Given the description of an element on the screen output the (x, y) to click on. 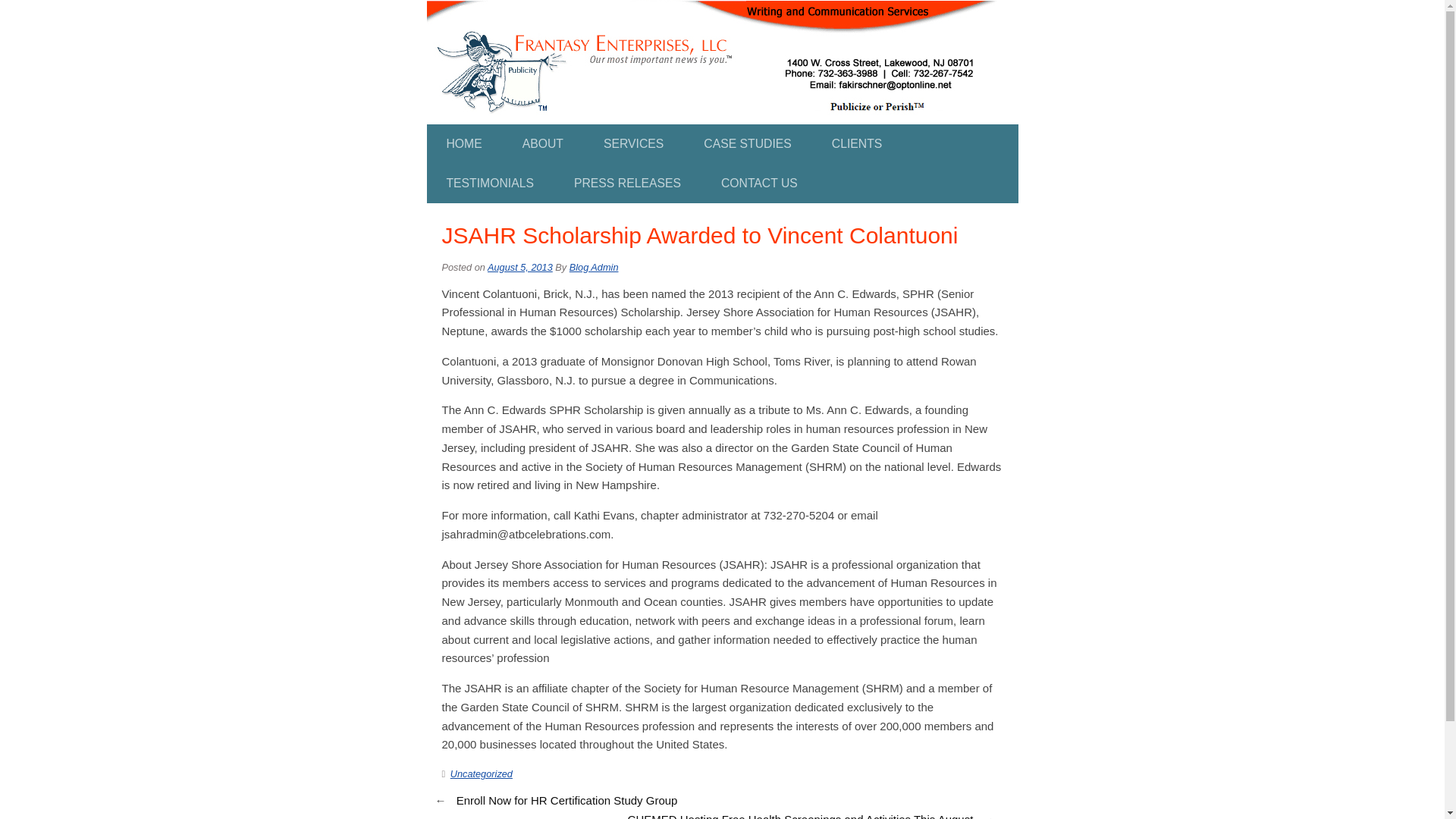
TESTIMONIALS (489, 183)
ABOUT (542, 143)
SERVICES (632, 143)
August 5, 2013 (520, 266)
PRESS RELEASES (627, 183)
CLIENTS (856, 143)
CASE STUDIES (747, 143)
Posts by Blog Admin (593, 266)
Frantasy Enterprises, LLC (710, 8)
CONTACT US (758, 183)
